Given the description of an element on the screen output the (x, y) to click on. 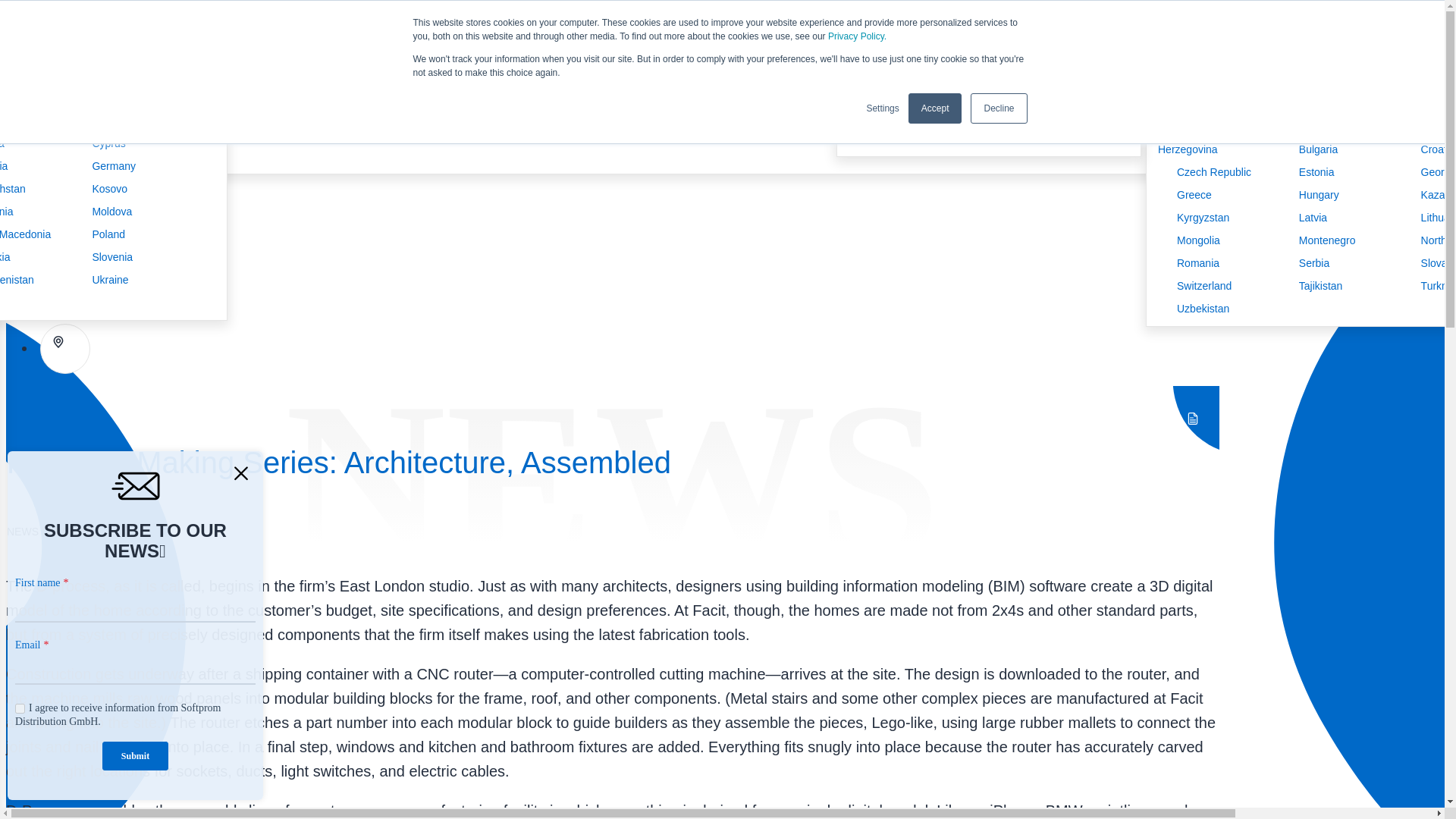
Moldova (102, 211)
North Macedonia (25, 234)
Germany (103, 166)
Accept (935, 108)
Kosovo (100, 189)
Kazakhstan (13, 189)
Privacy Policy. (857, 36)
Settings (882, 108)
Cyprus (98, 143)
Decline (998, 108)
Azerbaijan (106, 97)
Poland (98, 234)
